Given the description of an element on the screen output the (x, y) to click on. 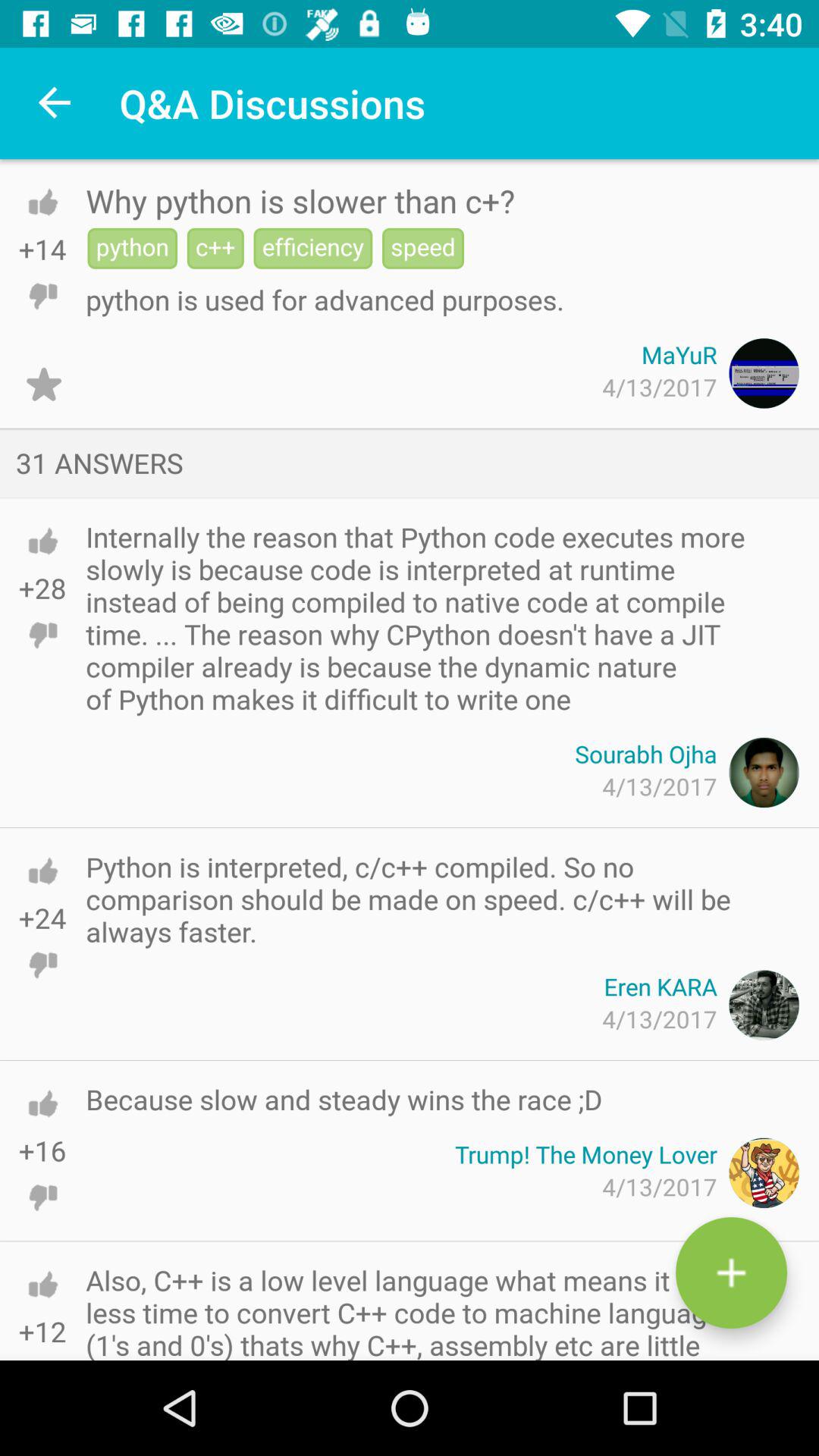
open the icon above sourabh ojha item (424, 617)
